Given the description of an element on the screen output the (x, y) to click on. 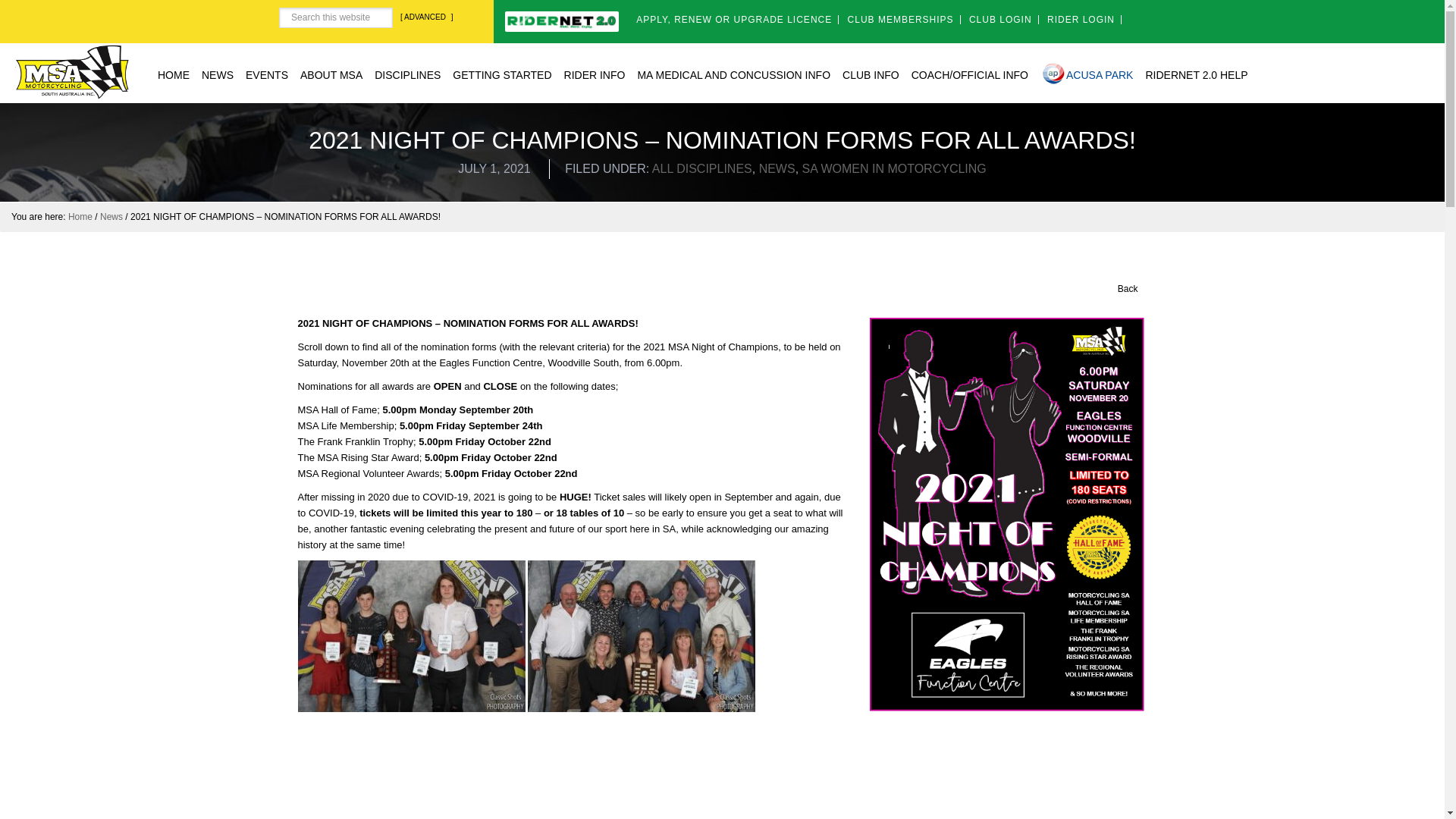
CLUB MEMBERSHIPS (900, 19)
APPLY, RENEW OR UPGRADE LICENCE (733, 19)
Motorcycling SA (71, 71)
ABOUT MSA (331, 73)
RIDER LOGIN (1080, 19)
EVENTS (267, 73)
DISCIPLINES (407, 73)
CLUB LOGIN (1000, 19)
